Given the description of an element on the screen output the (x, y) to click on. 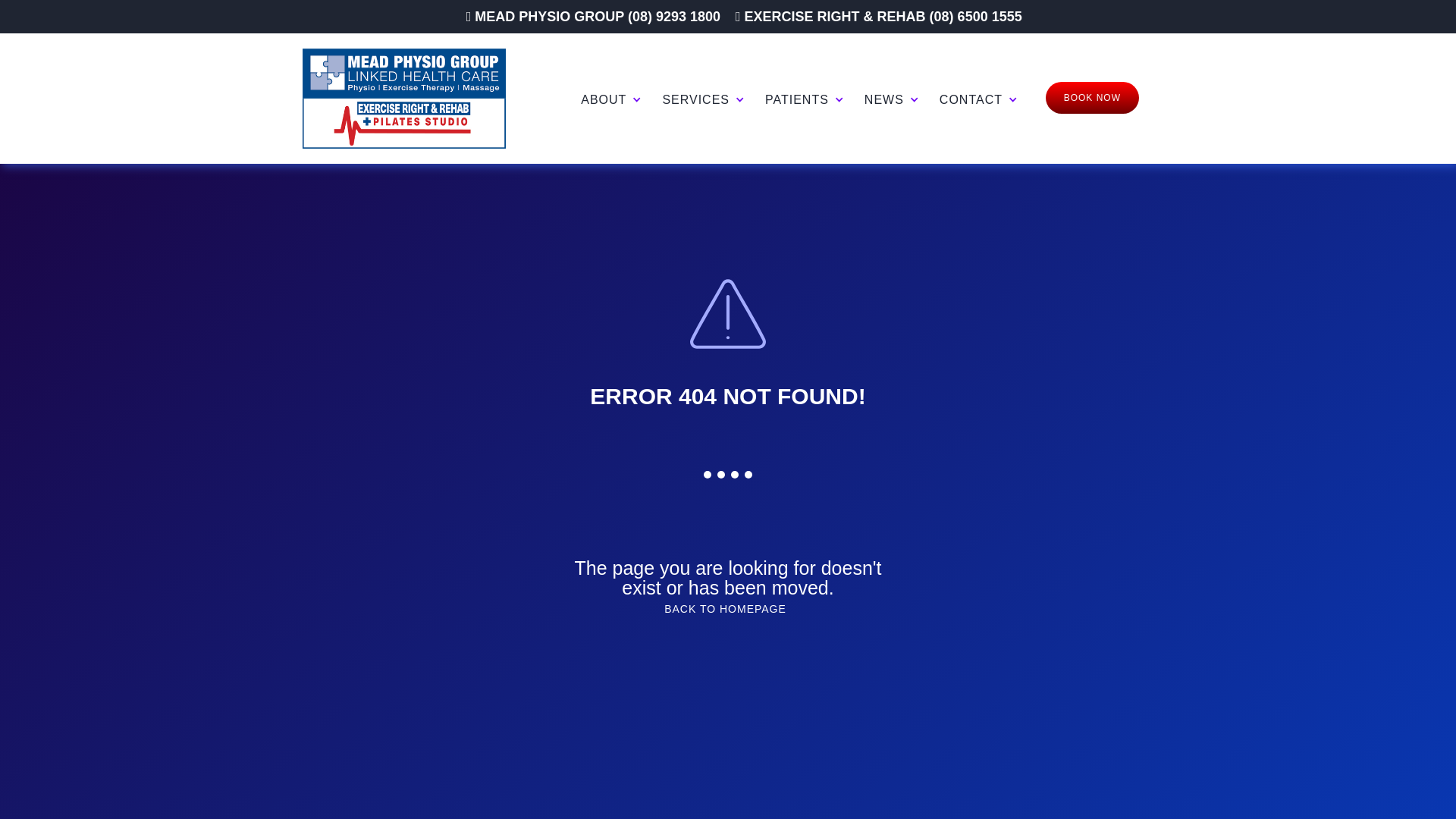
BACK TO HOMEPAGE Element type: text (725, 608)
BOOK NOW Element type: text (1092, 97)
